Given the description of an element on the screen output the (x, y) to click on. 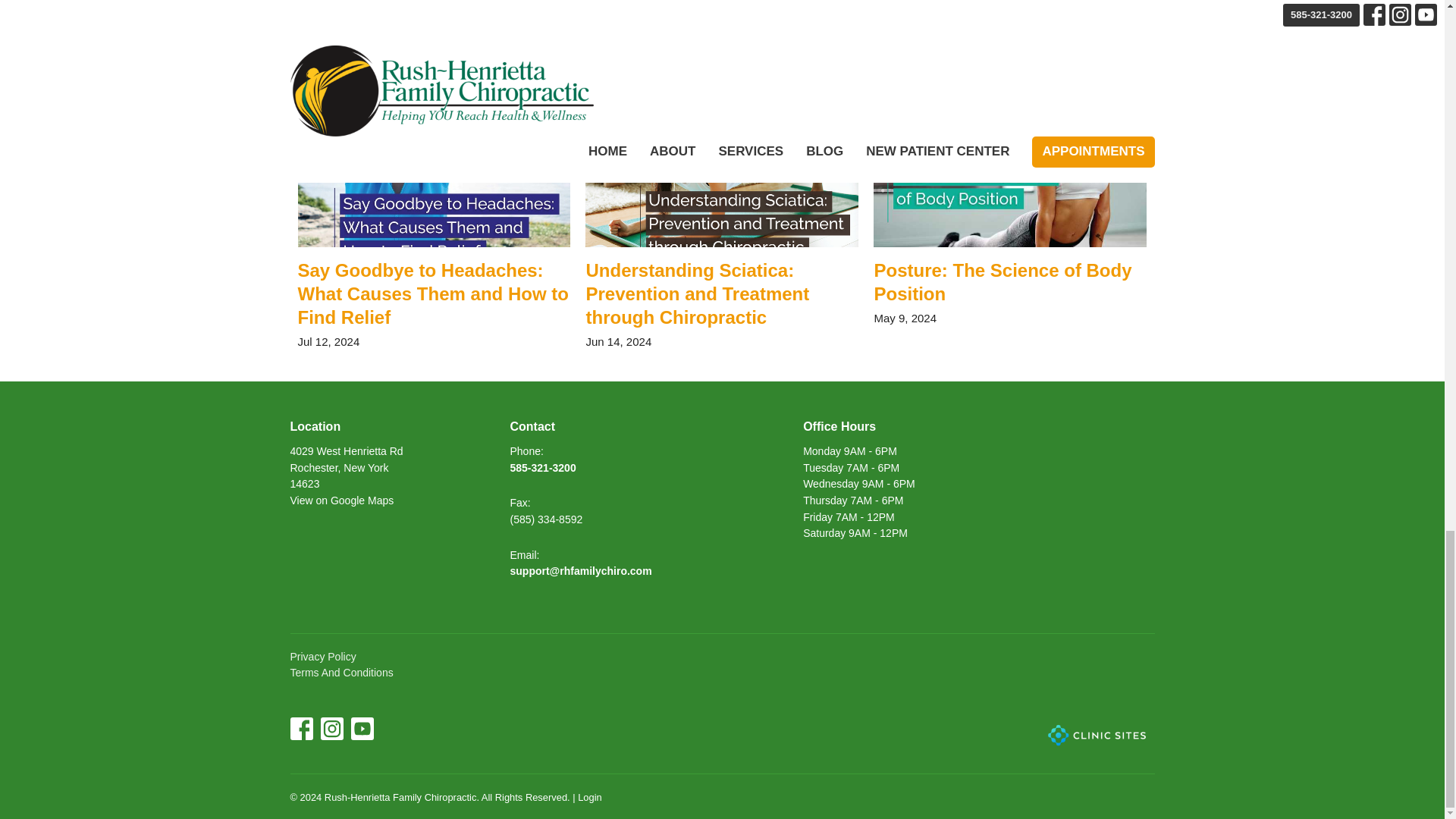
585-321-3200 (542, 467)
View on Google Maps (341, 500)
translation missing: en.ui.fax (1010, 215)
Privacy Policy (518, 502)
Terms And Conditions (322, 656)
Login (341, 672)
